Given the description of an element on the screen output the (x, y) to click on. 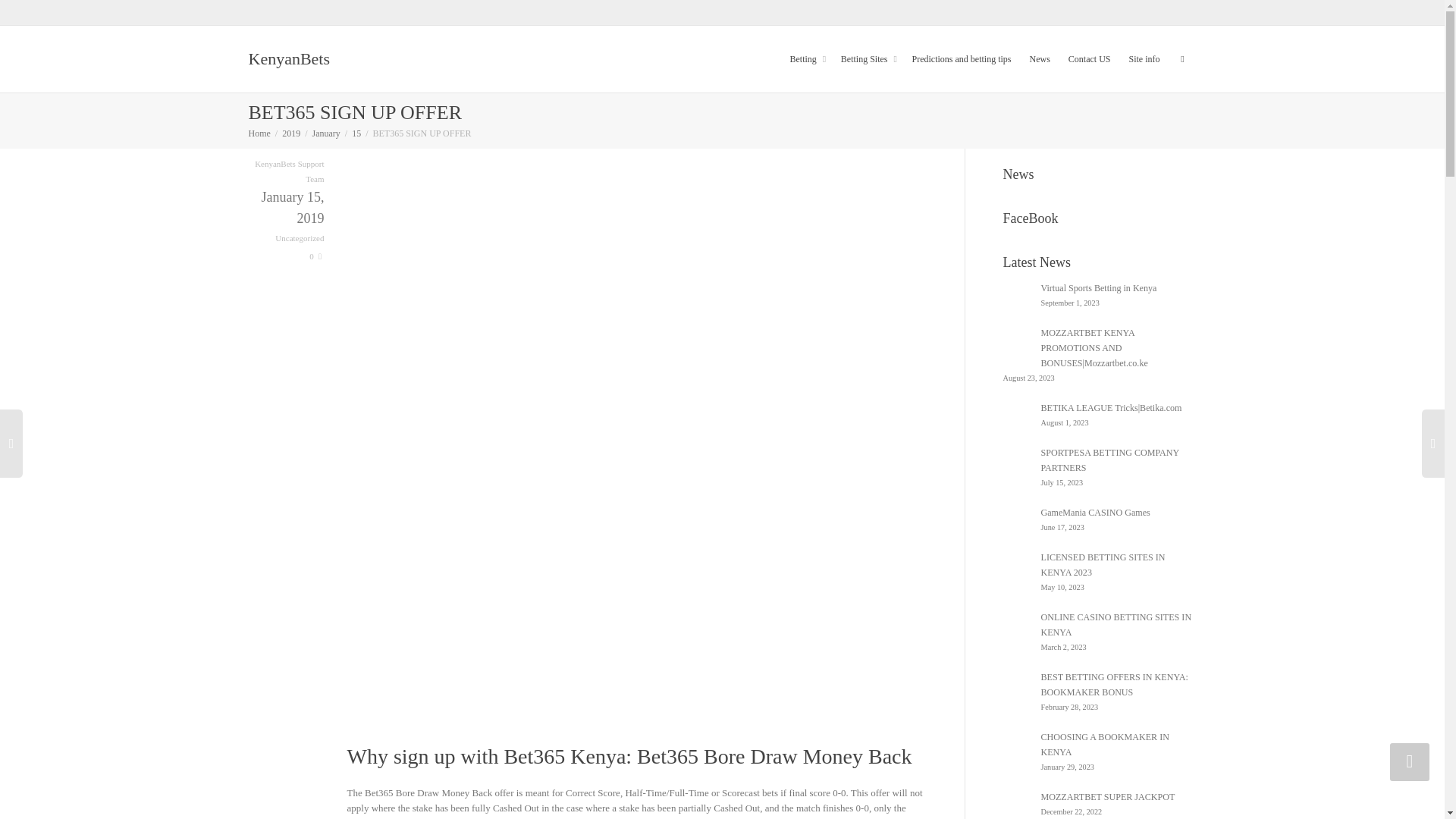
Betting Sites (867, 58)
Betting Sites (867, 58)
Betting (805, 58)
Betting (805, 58)
KenyanBets (289, 58)
